Given the description of an element on the screen output the (x, y) to click on. 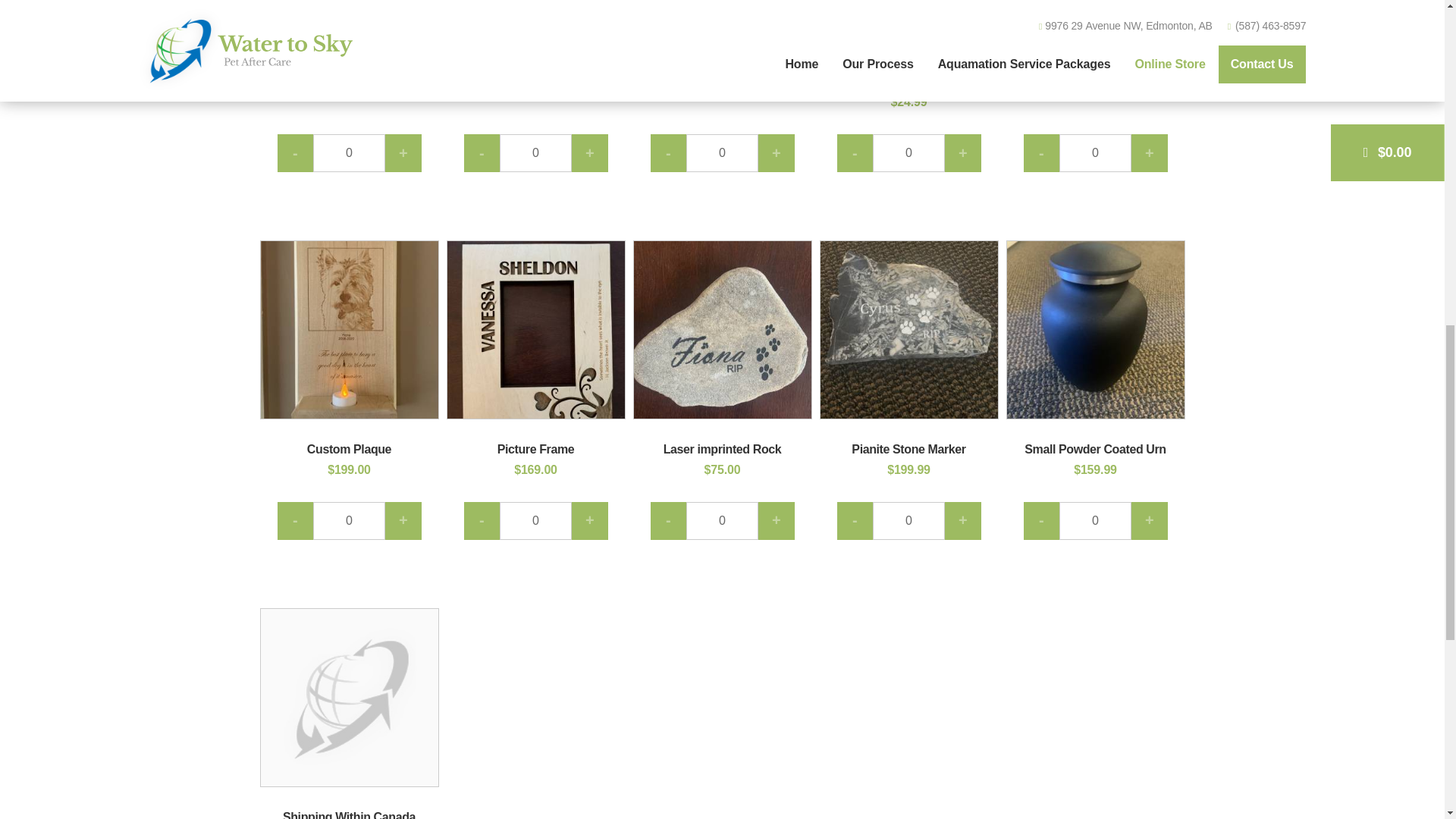
0 (535, 520)
0 (535, 152)
0 (908, 520)
0 (908, 152)
0 (1095, 520)
0 (721, 152)
0 (349, 152)
0 (721, 520)
0 (349, 520)
0 (1095, 152)
